Given the description of an element on the screen output the (x, y) to click on. 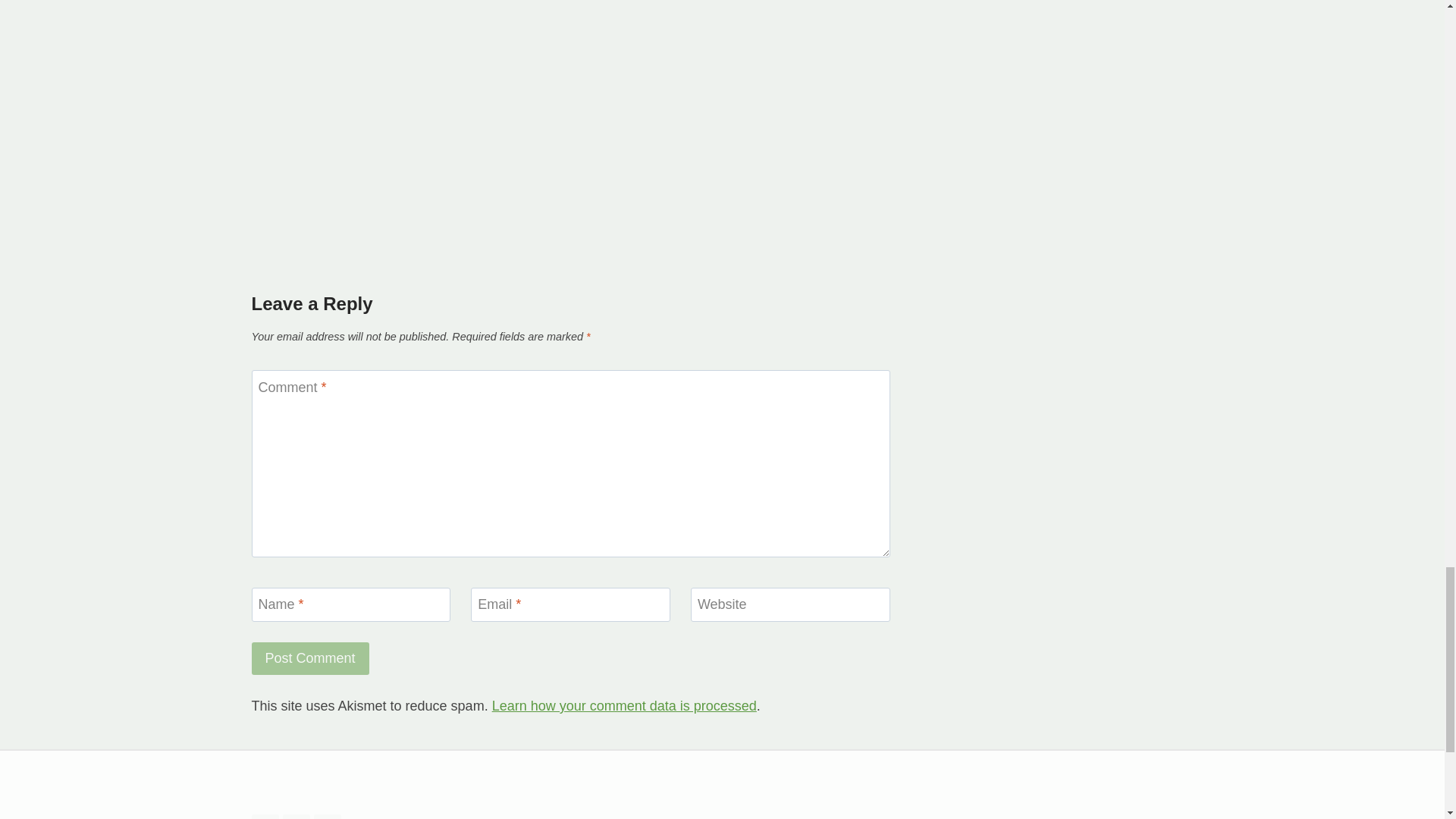
Post Comment (310, 658)
